Given the description of an element on the screen output the (x, y) to click on. 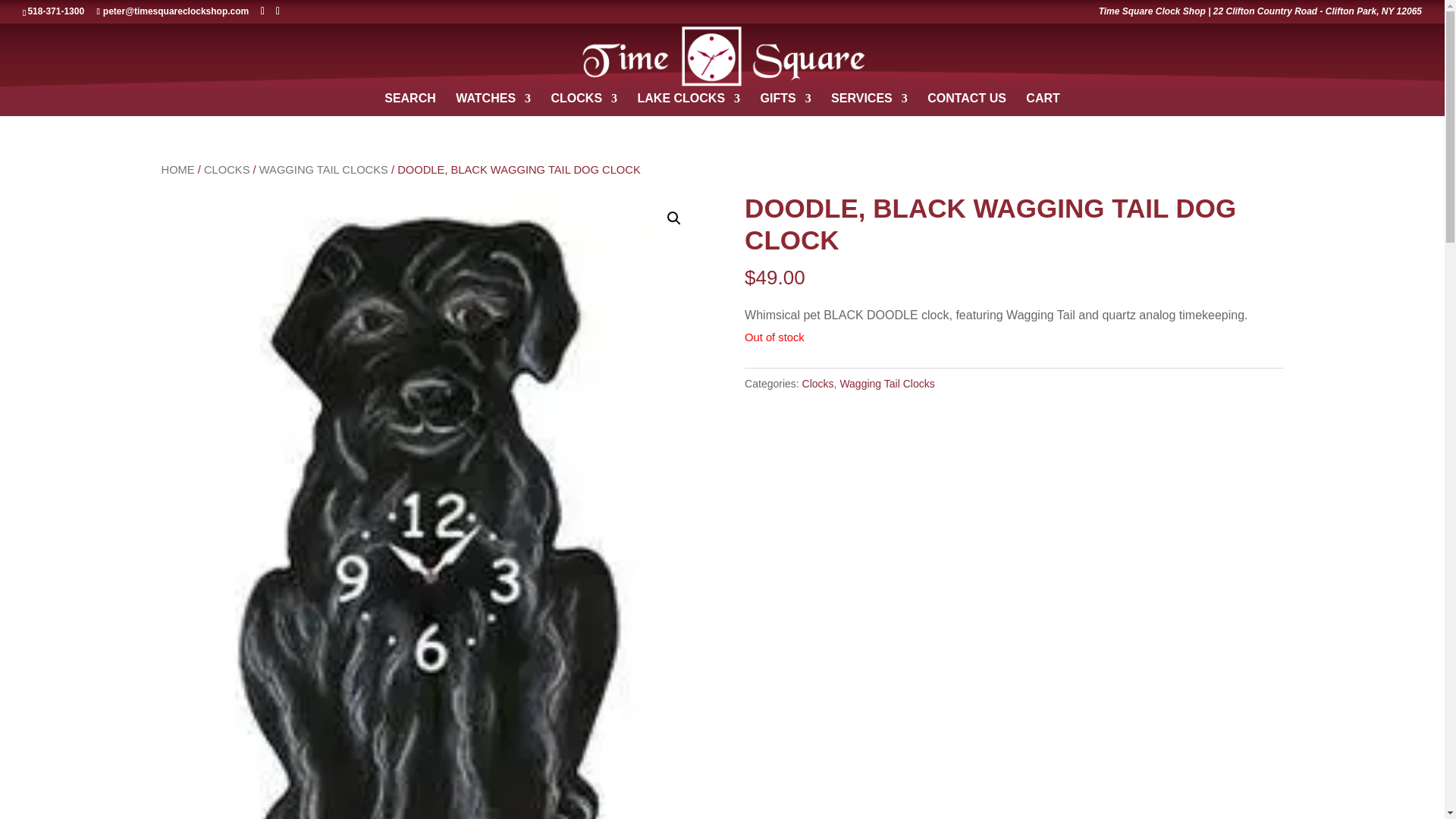
WATCHES (493, 104)
SEARCH (409, 104)
GIFTS (785, 104)
LAKE CLOCKS (689, 104)
CLOCKS (583, 104)
